Given the description of an element on the screen output the (x, y) to click on. 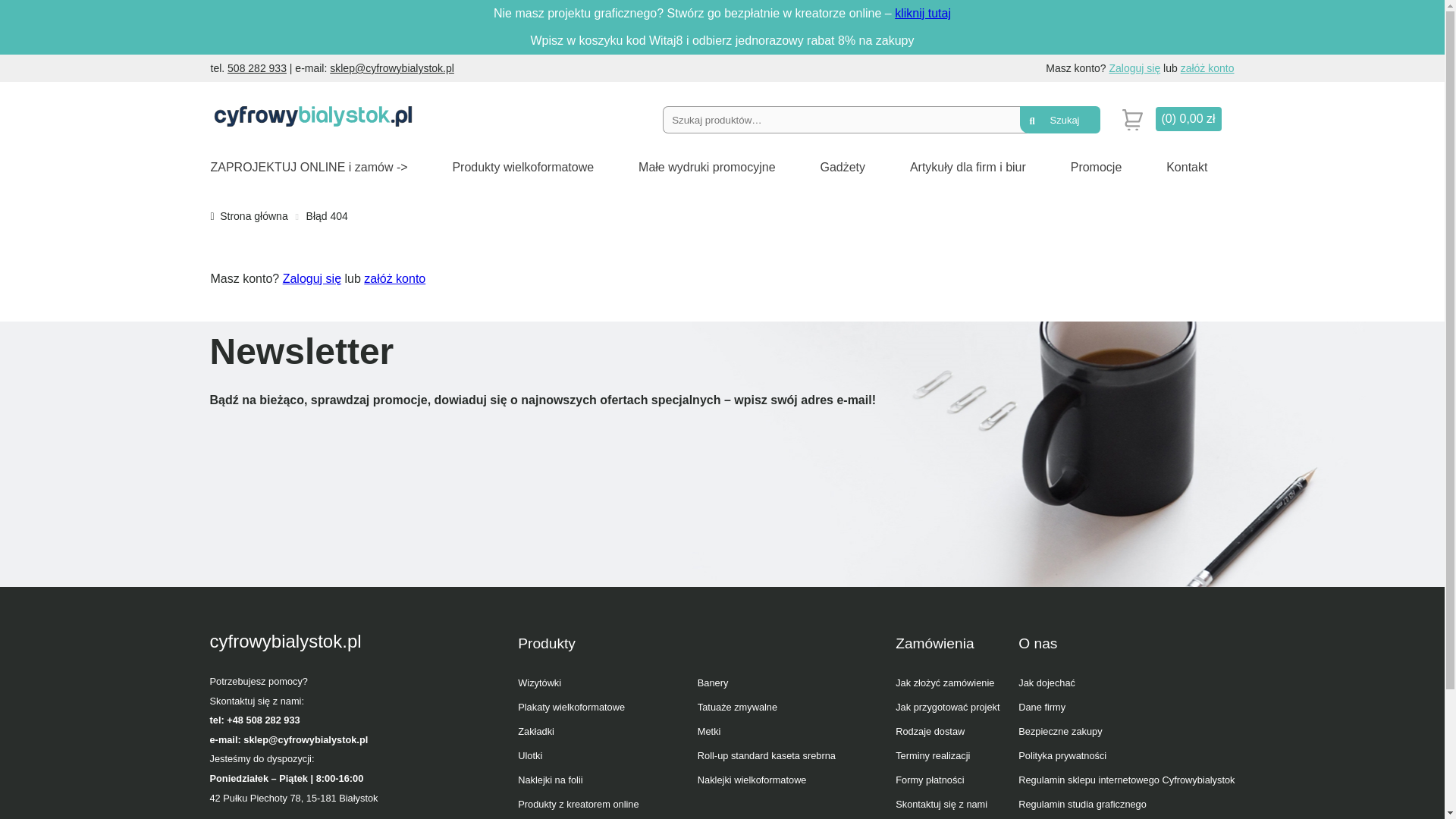
Produkty wielkoformatowe (522, 166)
Kontakt (1186, 166)
508 282 933 (256, 68)
Promocje (1096, 166)
kliknij tutaj (922, 12)
Szukaj (1059, 119)
